Given the description of an element on the screen output the (x, y) to click on. 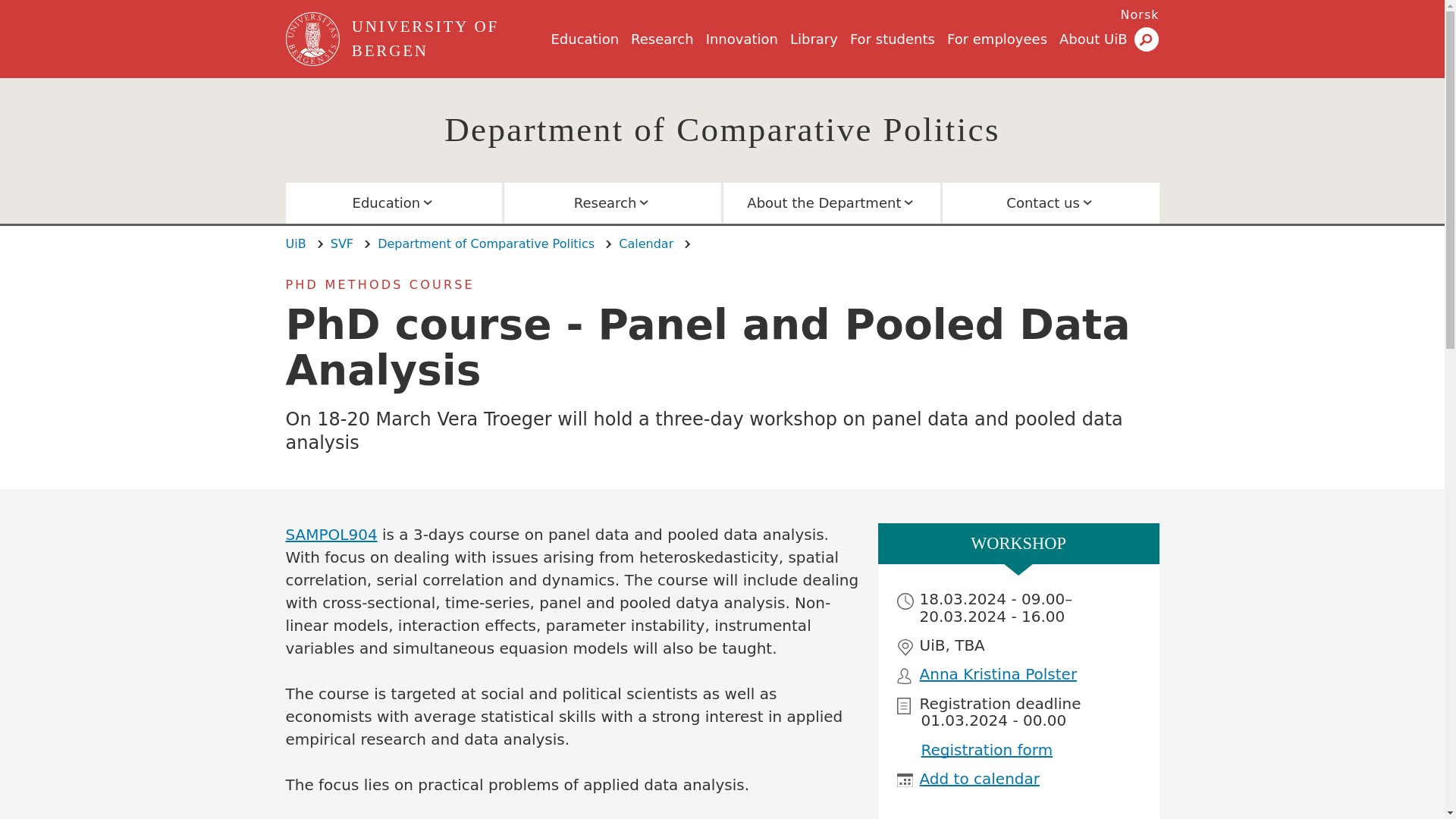
Department of Comparative Politics (722, 129)
Innovation (741, 38)
Norsk (1139, 14)
For students (892, 38)
Home (313, 39)
PhD course - Panel and Pooled Data Analysis (1139, 14)
Home (448, 39)
For employees (996, 38)
UNIVERSITY OF BERGEN (448, 39)
Research (662, 38)
Education (584, 38)
Library (814, 38)
About UiB (1092, 38)
